Given the description of an element on the screen output the (x, y) to click on. 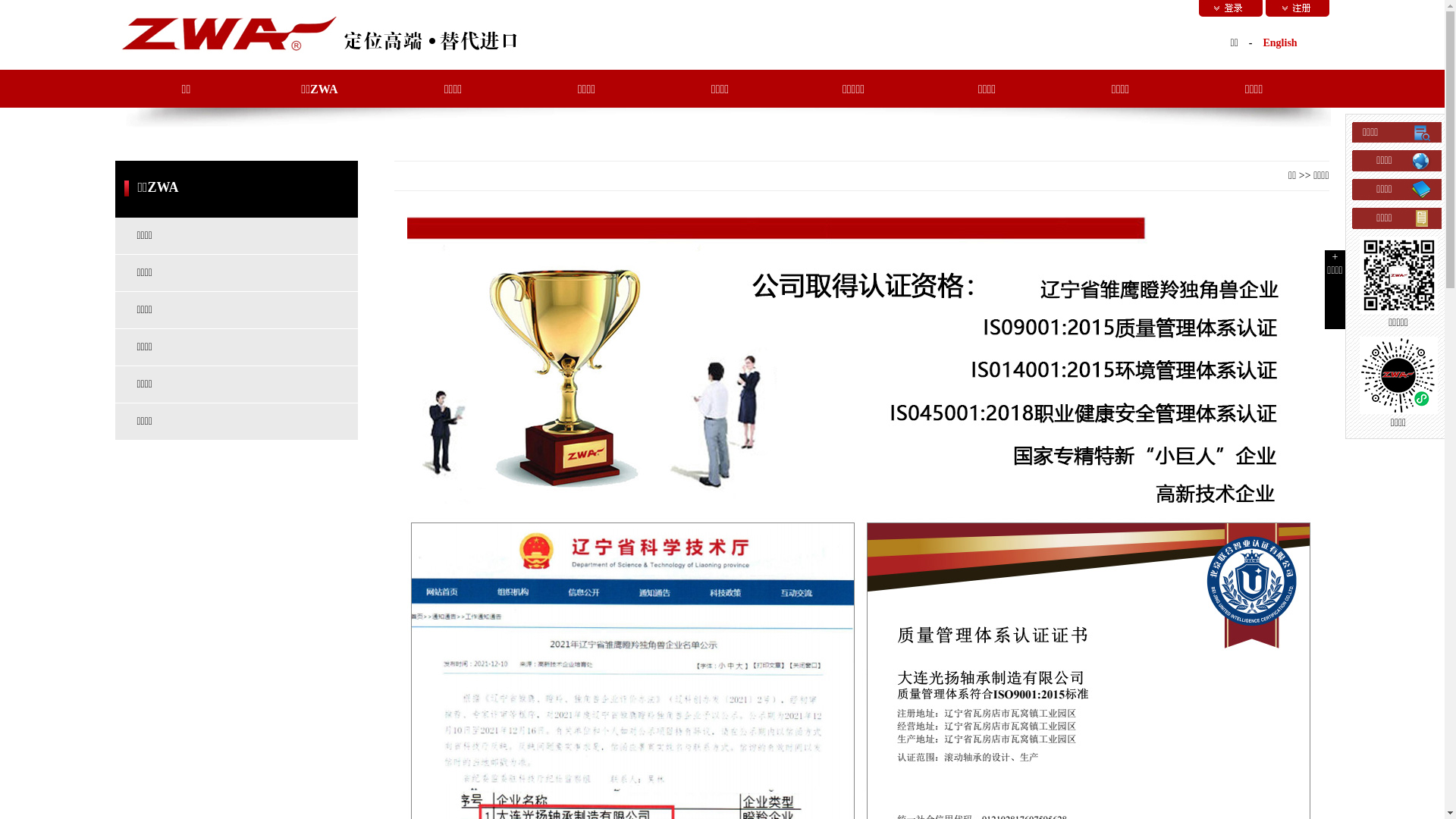
English Element type: text (1280, 42)
